Given the description of an element on the screen output the (x, y) to click on. 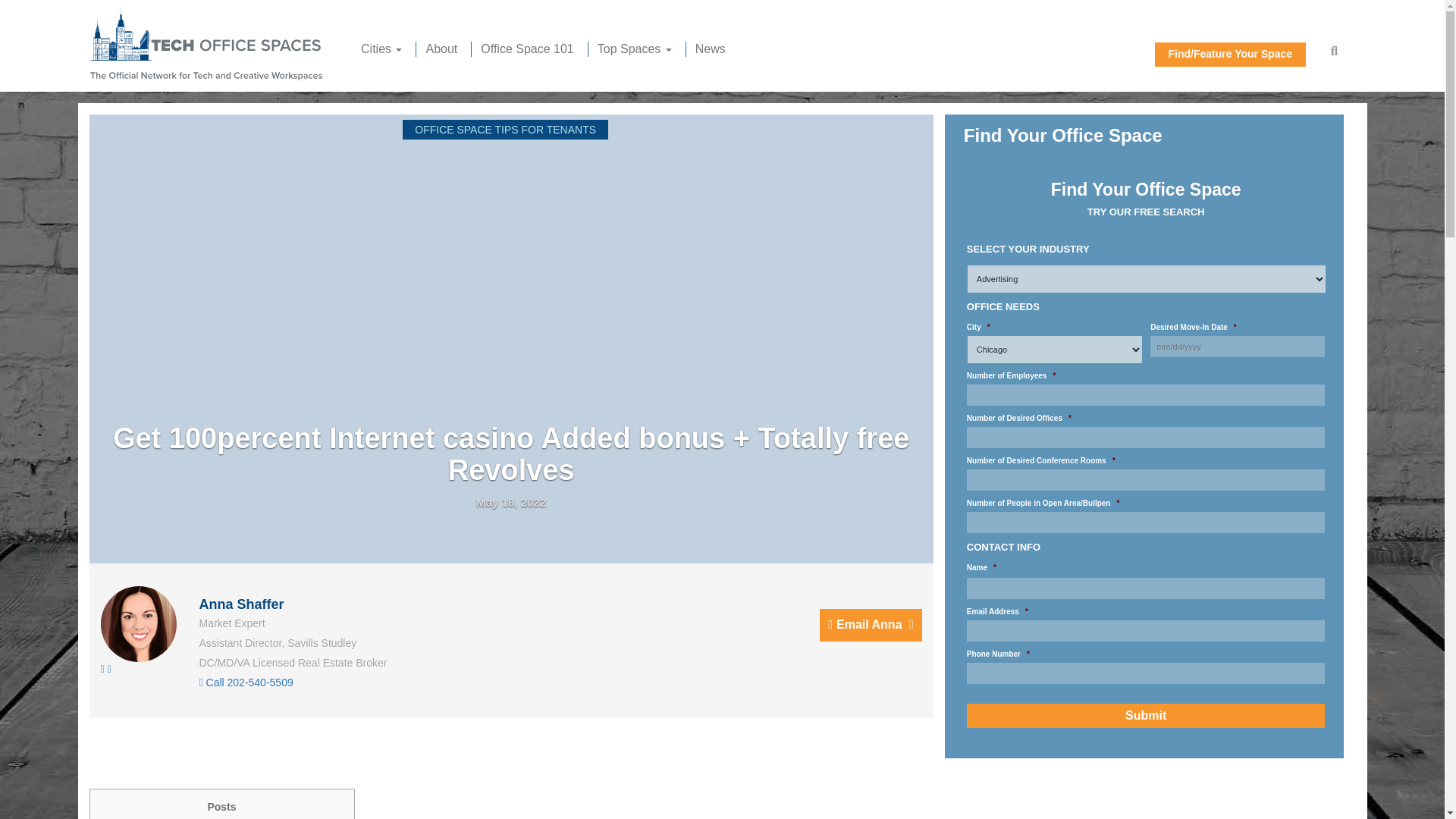
Top Spaces (634, 48)
Email Anna (870, 625)
OFFICE SPACE TIPS FOR TENANTS (505, 129)
Top Spaces (634, 48)
About (440, 48)
Cities (381, 48)
Cities (381, 48)
Submit (1145, 715)
News (710, 48)
Submit (1145, 715)
